Given the description of an element on the screen output the (x, y) to click on. 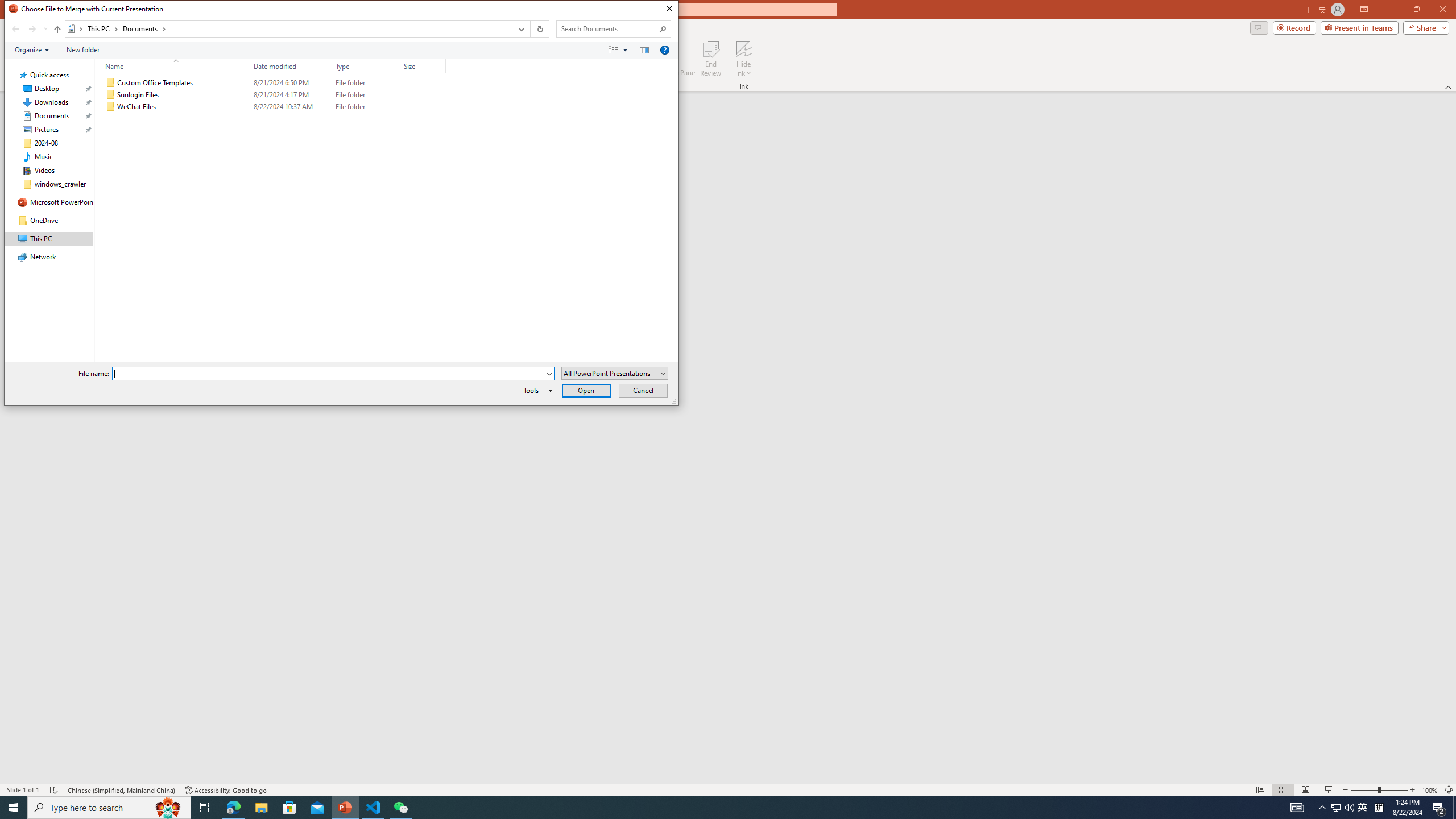
Refresh "Documents" (F5) (538, 28)
Preview pane (644, 49)
AutomationID: 4105 (1297, 807)
Share (1423, 27)
Type here to search (108, 807)
Tools (535, 390)
Date modified (290, 65)
Zoom to Fit  (1449, 790)
Address: Documents (288, 28)
Type (365, 106)
Q2790: 100% (1349, 807)
New folder (82, 49)
PowerPoint - 1 running window (345, 807)
Zoom (1379, 790)
